Given the description of an element on the screen output the (x, y) to click on. 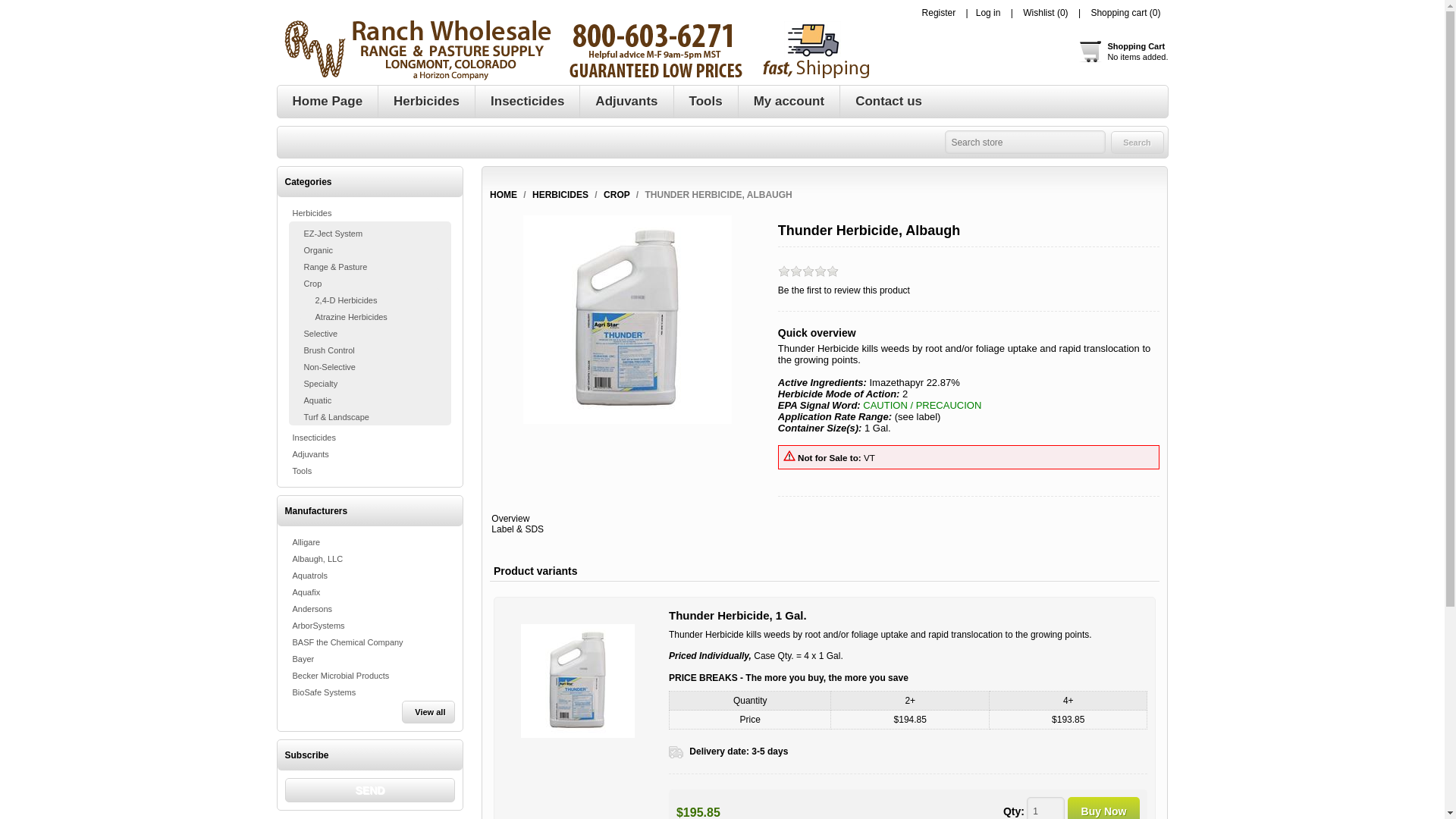
Search (1136, 141)
Search (1136, 141)
Send (370, 790)
Herbicides (426, 101)
Register (1122, 51)
1 (938, 12)
Ranch Wholesale (1045, 807)
Thunder Herbicide, 1 Gal., Albaugh (572, 50)
Home Page (577, 680)
